Given the description of an element on the screen output the (x, y) to click on. 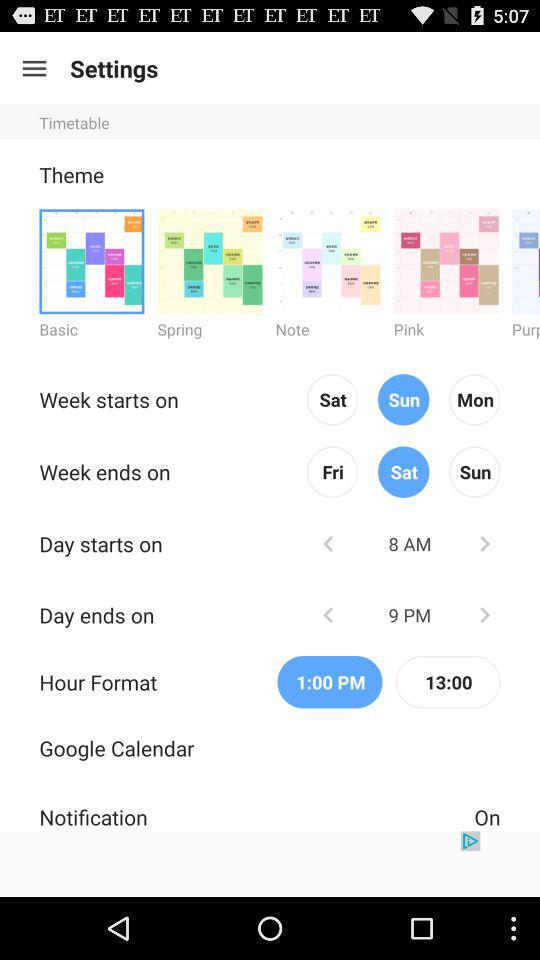
showing the advertisement (270, 864)
